Given the description of an element on the screen output the (x, y) to click on. 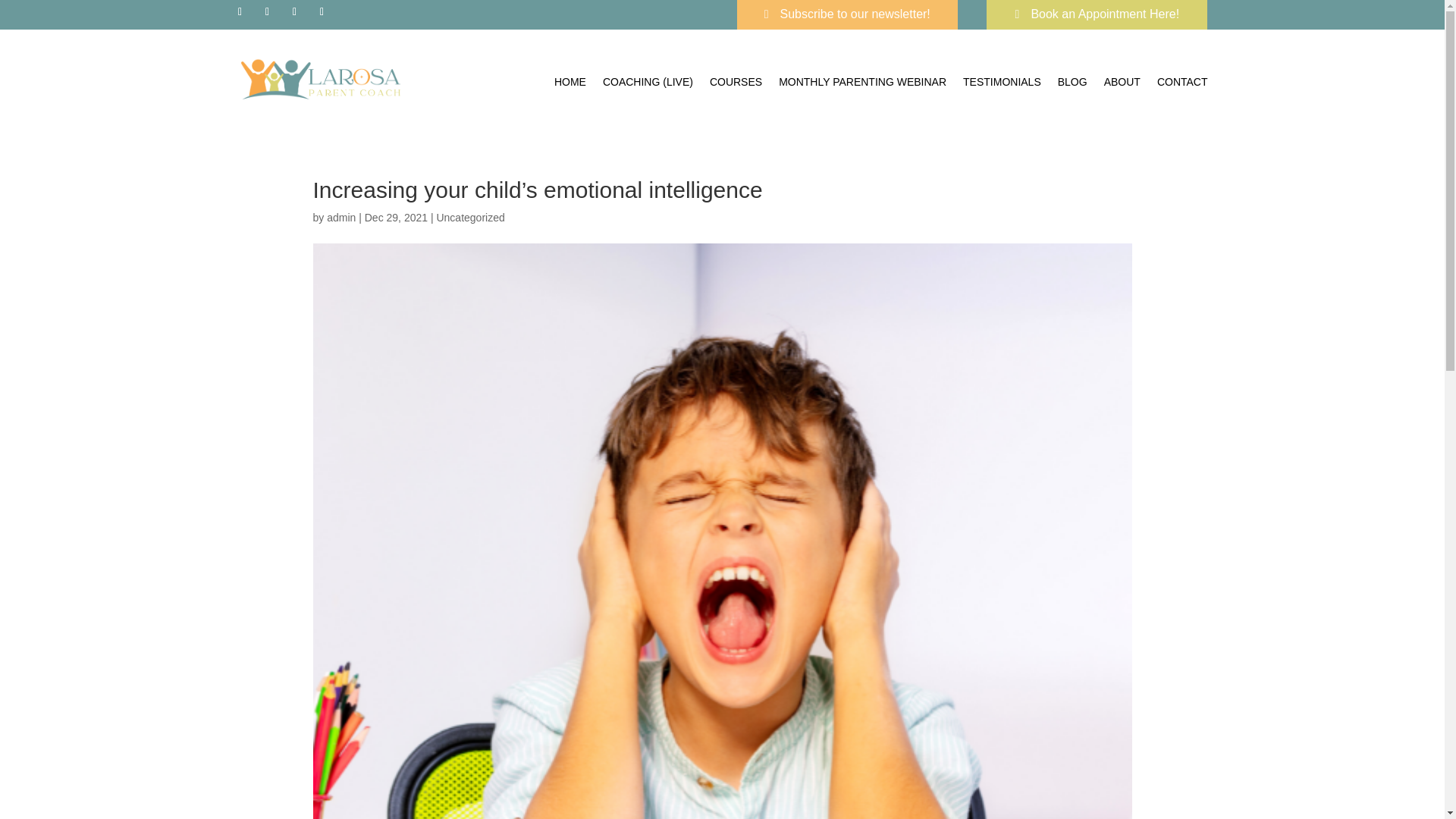
Follow on Facebook (239, 11)
Follow on Instagram (267, 11)
Follow on Vimeo (321, 11)
TESTIMONIALS (1001, 81)
Posts by admin (340, 217)
Subscribe to our newsletter! (847, 14)
Follow on X (293, 11)
MONTHLY PARENTING WEBINAR (862, 81)
Book an Appointment Here! (1097, 14)
